Given the description of an element on the screen output the (x, y) to click on. 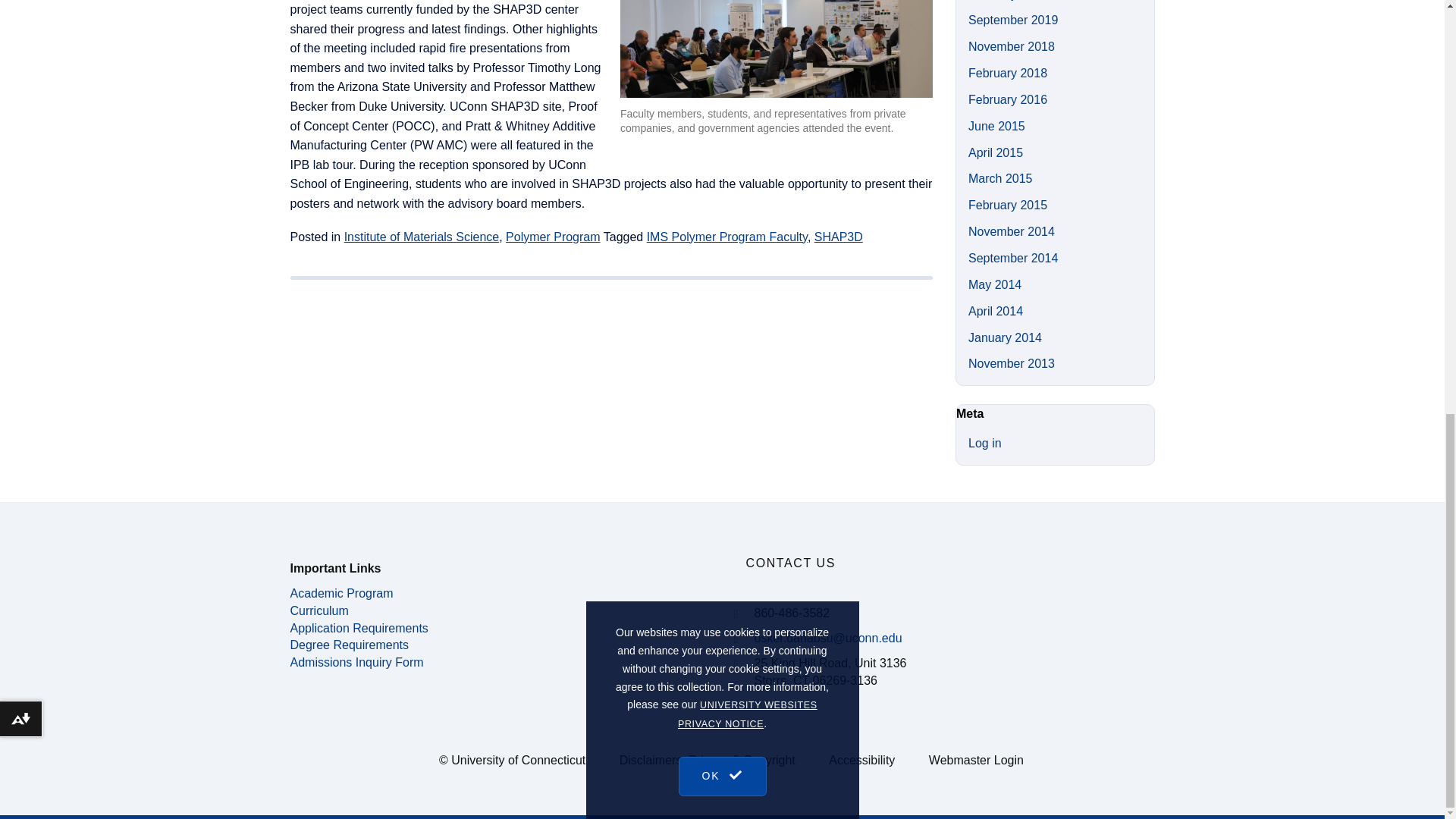
OK (721, 0)
Institute of Materials Science (421, 236)
